Given the description of an element on the screen output the (x, y) to click on. 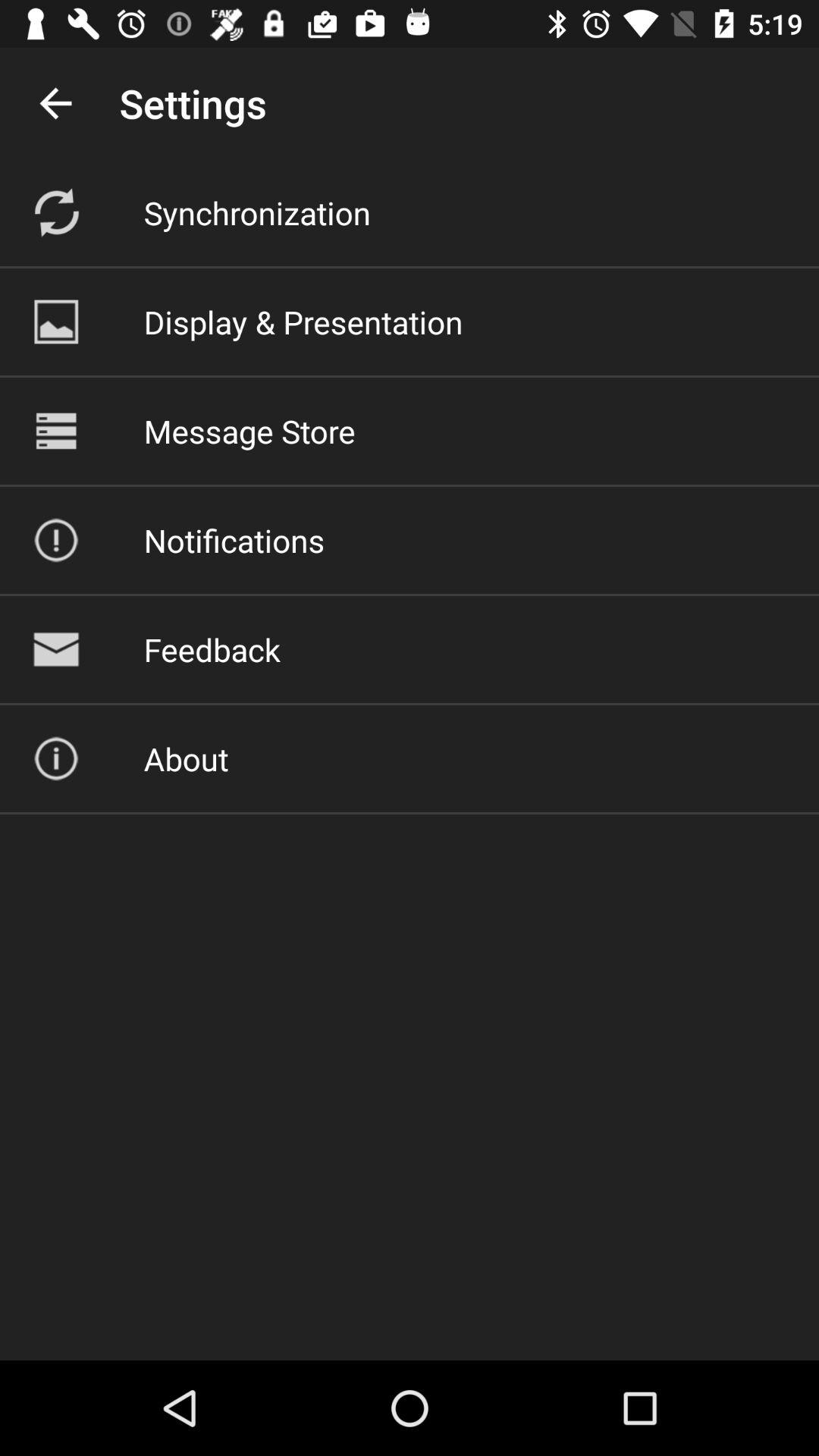
select display & presentation item (302, 321)
